Given the description of an element on the screen output the (x, y) to click on. 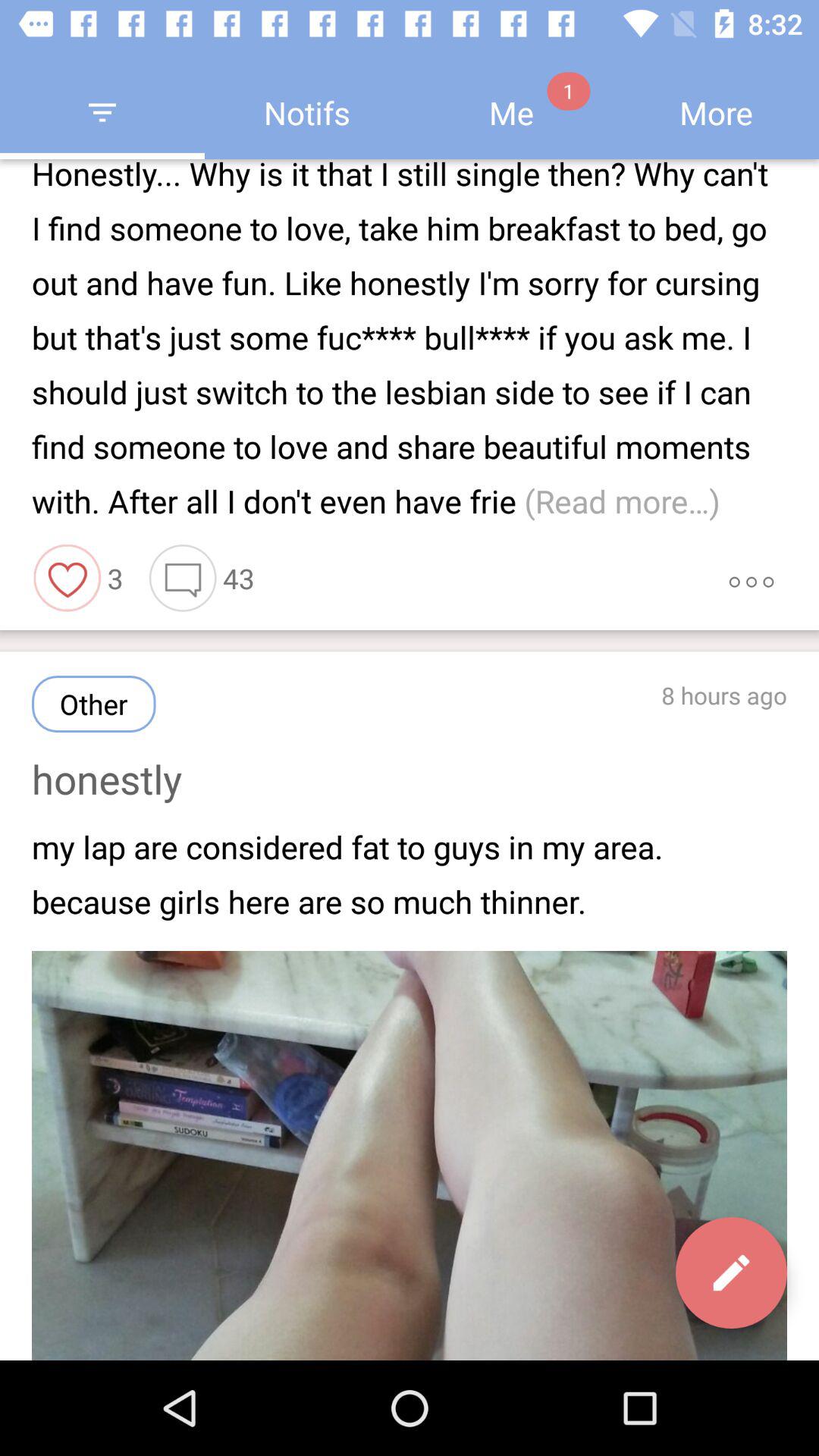
select icon below the notifs item (409, 340)
